Given the description of an element on the screen output the (x, y) to click on. 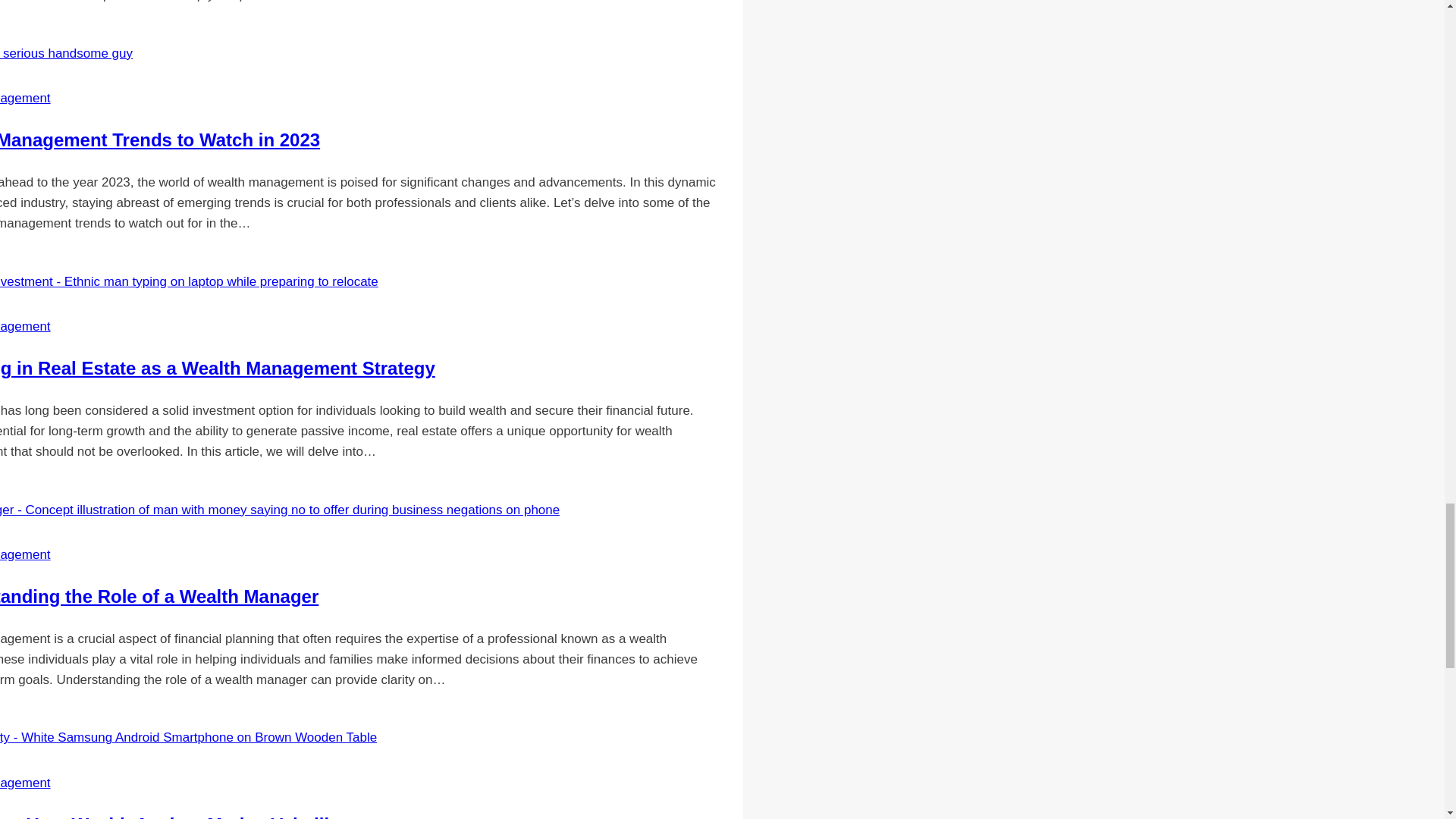
Wealth Management (25, 97)
Understanding the Role of a Wealth Manager (159, 596)
Protecting Your Wealth Against Market Volatility (172, 816)
Wealth Management (25, 554)
Wealth Management Trends to Watch in 2023 (160, 139)
Wealth Management (25, 782)
Wealth Management (25, 326)
Investing in Real Estate as a Wealth Management Strategy (217, 367)
